Given the description of an element on the screen output the (x, y) to click on. 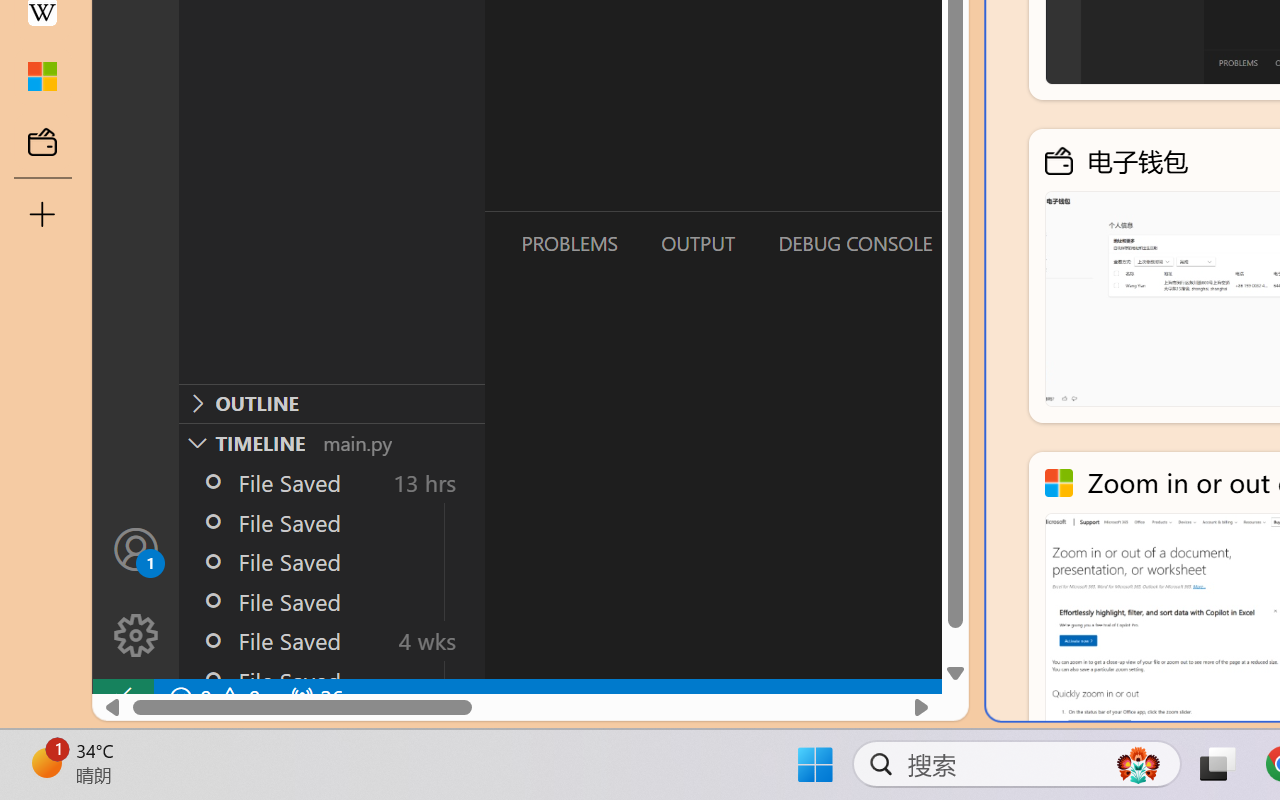
Timeline Section (331, 442)
Terminal (Ctrl+`) (1021, 243)
Debug Console (Ctrl+Shift+Y) (854, 243)
Outline Section (331, 403)
remote (122, 698)
